Given the description of an element on the screen output the (x, y) to click on. 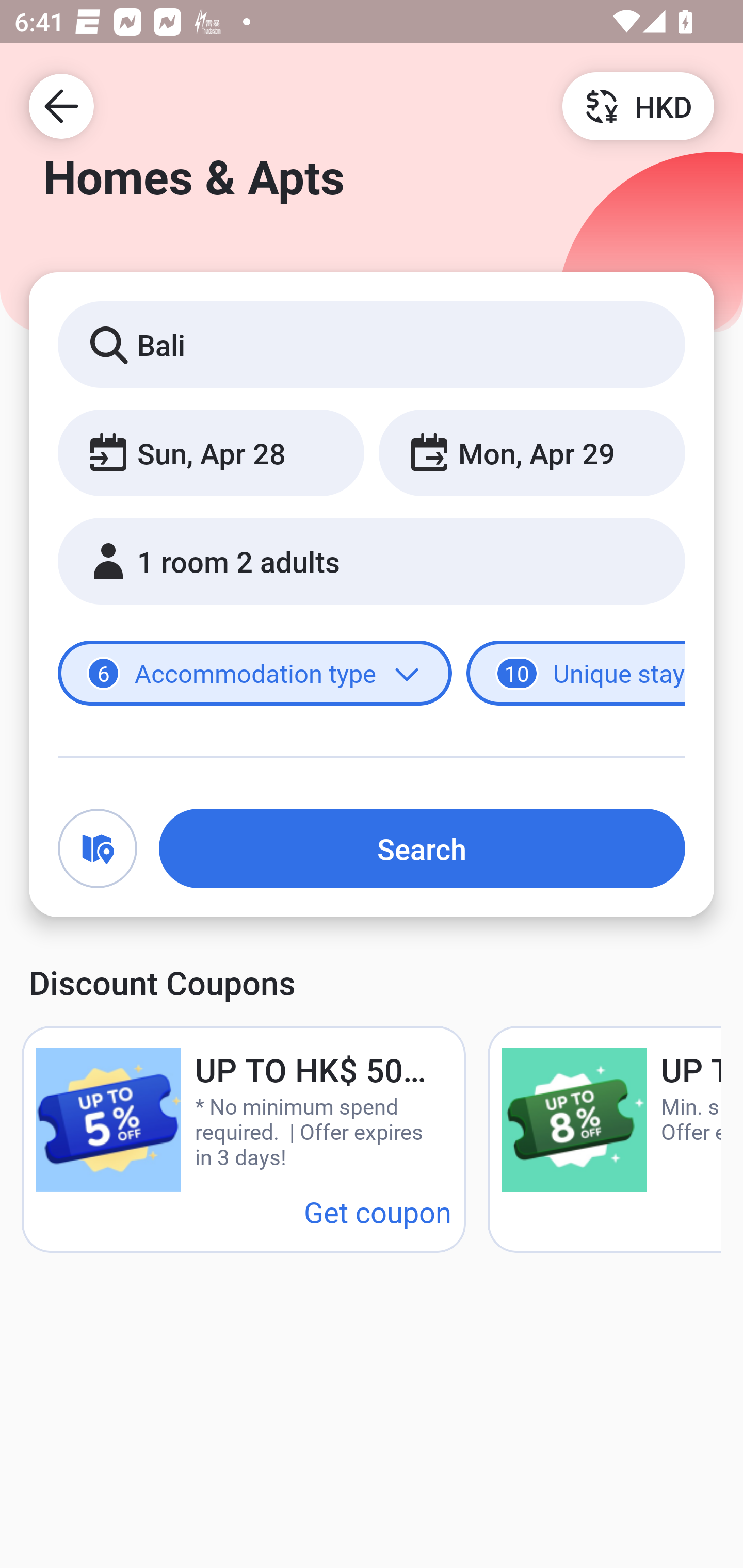
HKD (638, 105)
Bali (371, 344)
Sun, Apr 28 (210, 452)
Mon, Apr 29 (531, 452)
1 room 2 adults (371, 561)
6 Accommodation type (254, 673)
10 Unique stays (575, 673)
Search (422, 848)
Get coupon (377, 1211)
